Given the description of an element on the screen output the (x, y) to click on. 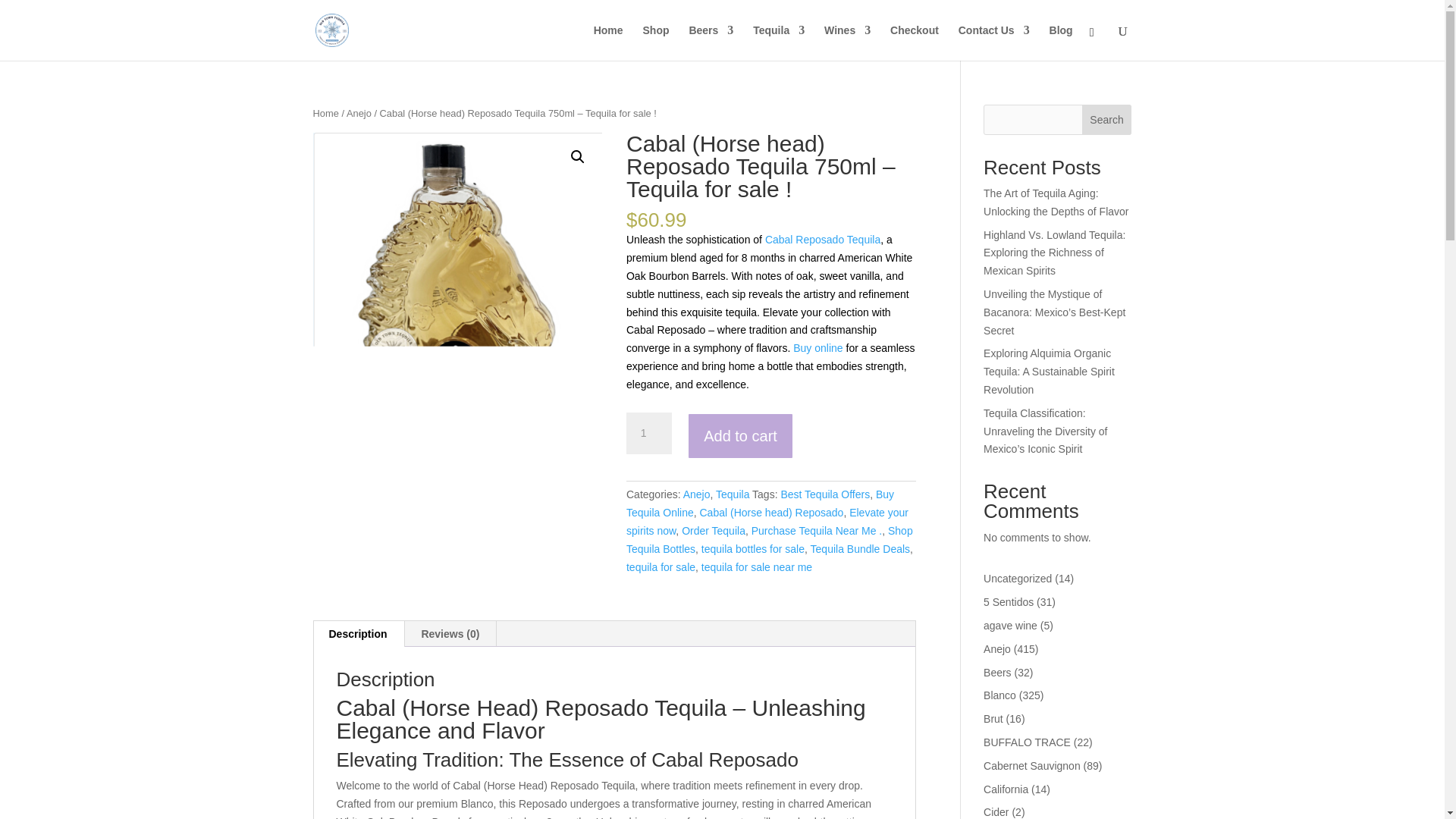
Contact Us (993, 42)
1 (648, 433)
Wines (847, 42)
Tequila (778, 42)
Checkout (914, 42)
Beers (710, 42)
